Given the description of an element on the screen output the (x, y) to click on. 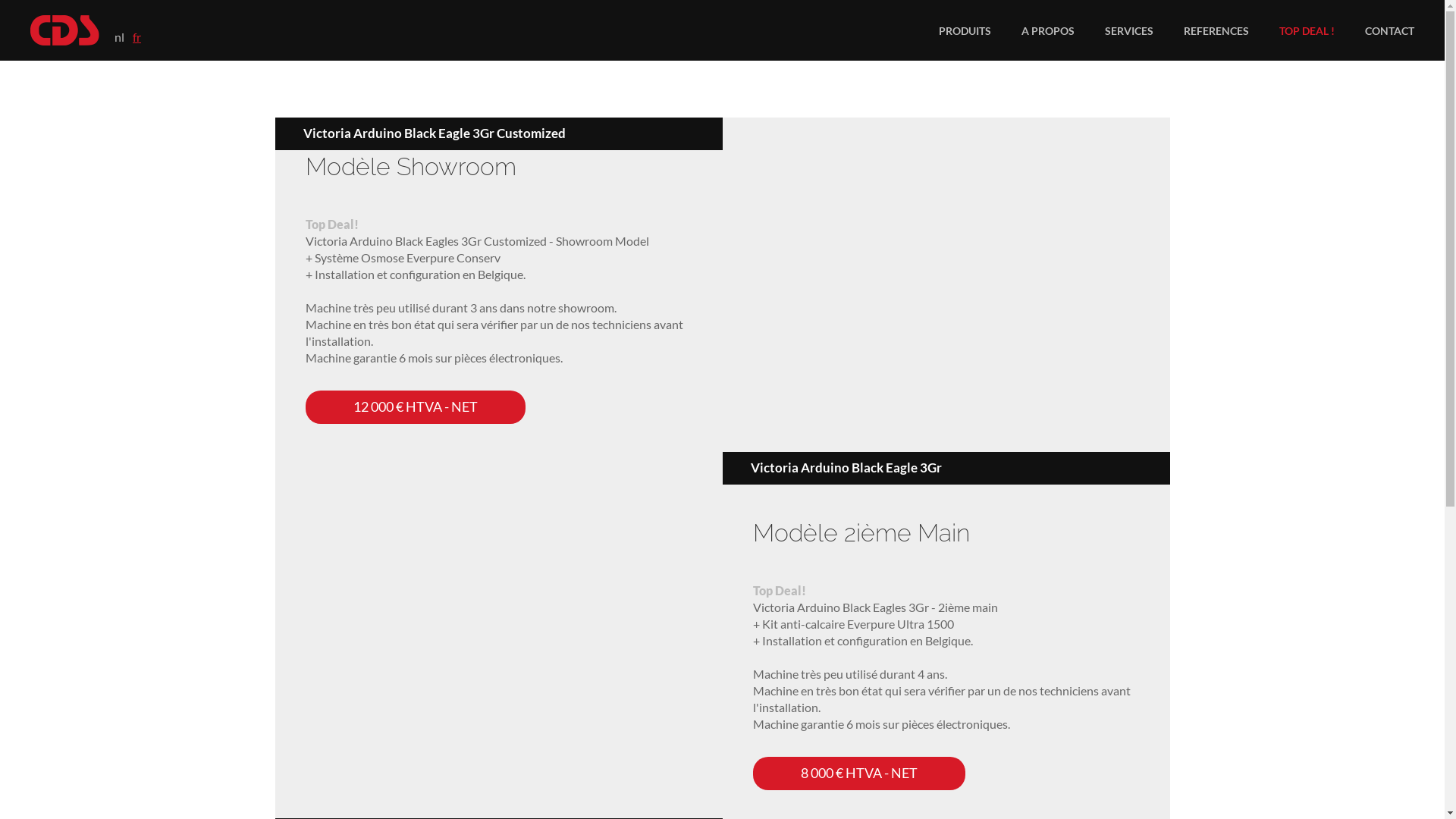
TOP DEAL ! Element type: text (1306, 30)
SERVICES Element type: text (1128, 30)
REFERENCES Element type: text (1215, 30)
nl Element type: text (119, 36)
A PROPOS Element type: text (1047, 30)
PRODUITS Element type: text (964, 30)
CONTACT Element type: text (1389, 30)
fr Element type: text (136, 36)
